Given the description of an element on the screen output the (x, y) to click on. 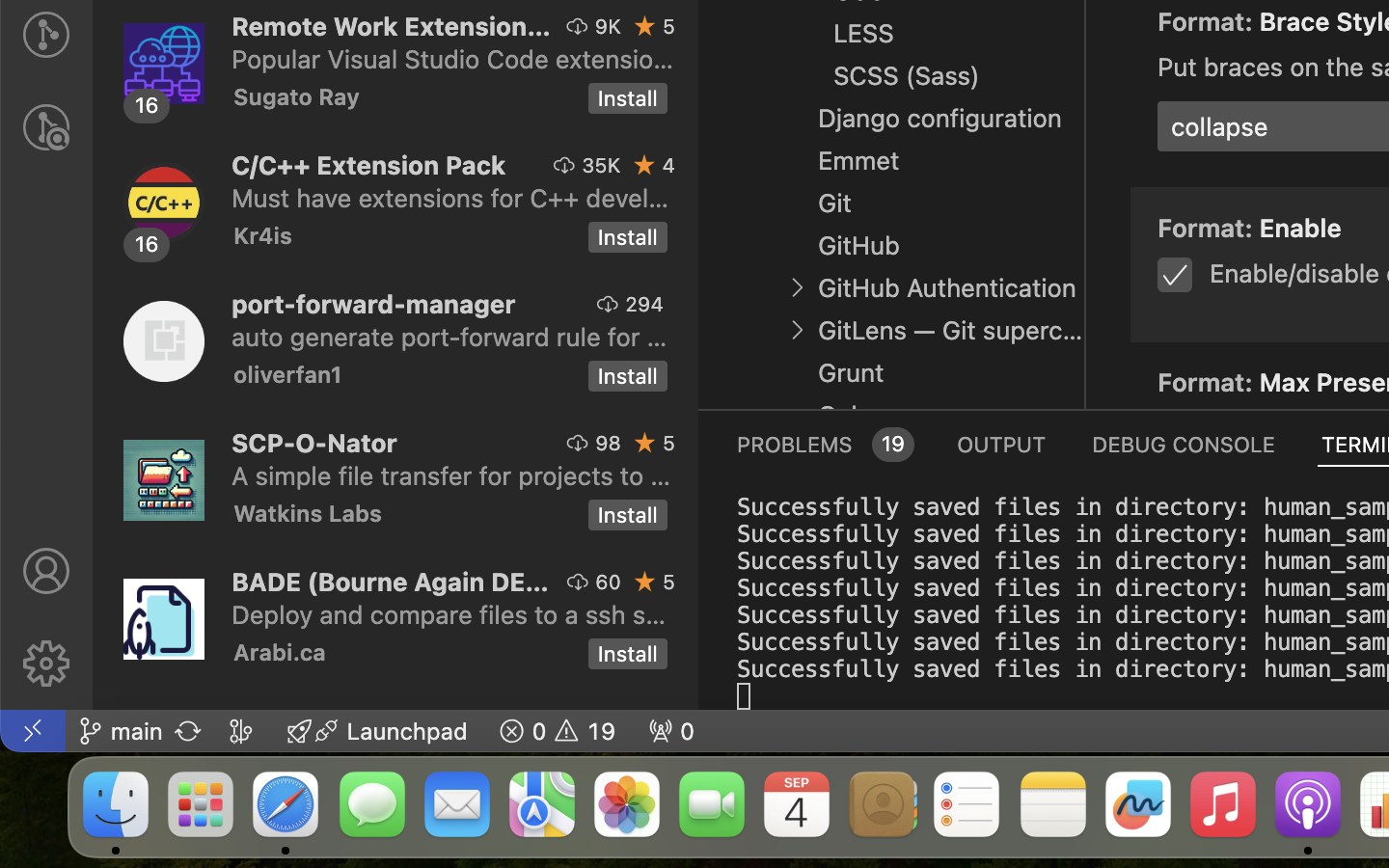
19  0  Element type: AXButton (557, 730)
294 Element type: AXStaticText (644, 303)
Format: Element type: AXStaticText (1208, 21)
SCP-O-Nator Element type: AXStaticText (314, 442)
SCSS (Sass) Element type: AXStaticText (906, 75)
